Given the description of an element on the screen output the (x, y) to click on. 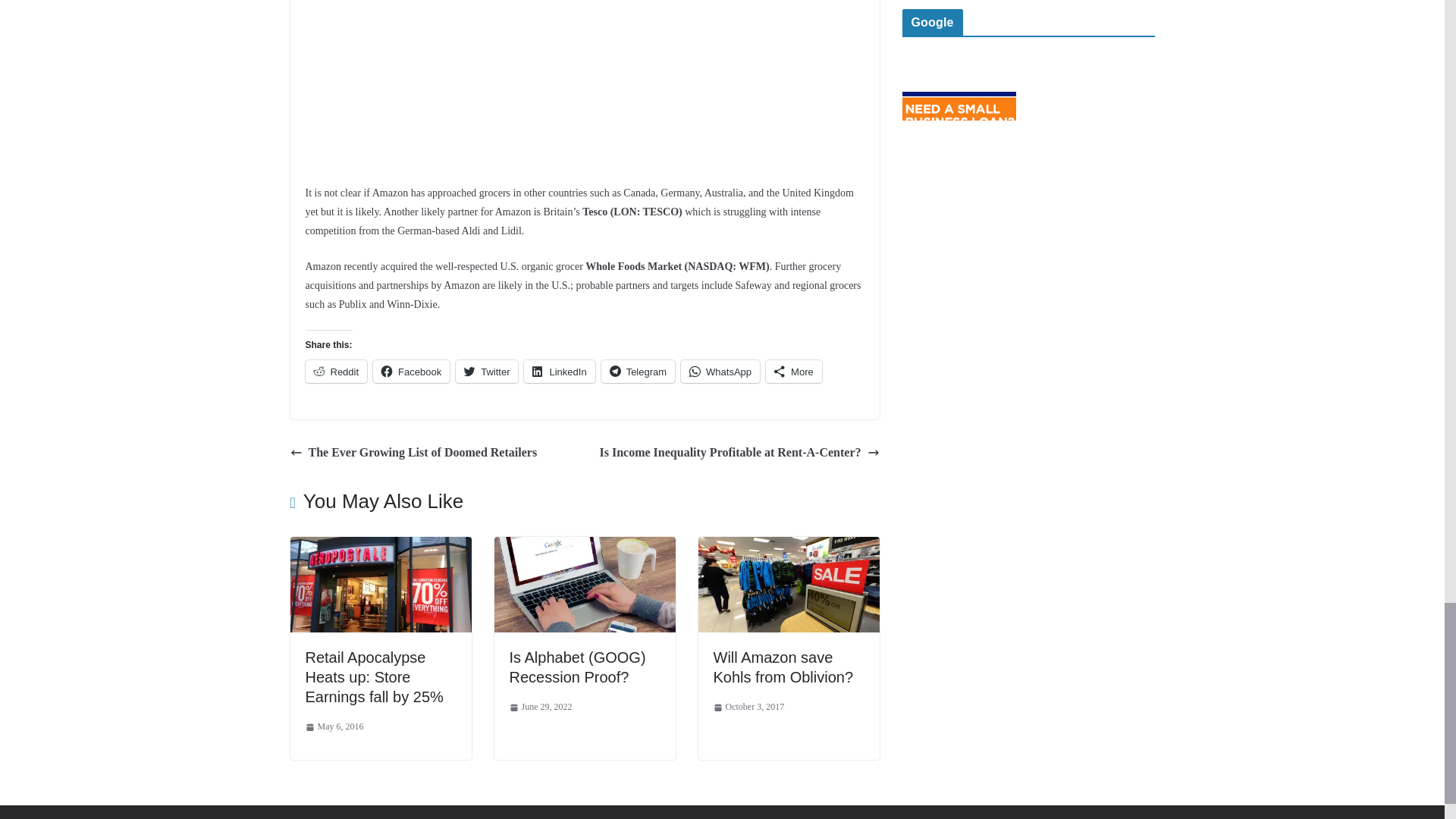
Facebook (410, 370)
9:54 pm (333, 727)
Click to share on Facebook (410, 370)
Click to share on Telegram (638, 370)
Click to share on LinkedIn (559, 370)
Reddit (335, 370)
Click to share on WhatsApp (720, 370)
Twitter (486, 370)
LinkedIn (559, 370)
Click to share on Twitter (486, 370)
Click to share on Reddit (335, 370)
